Given the description of an element on the screen output the (x, y) to click on. 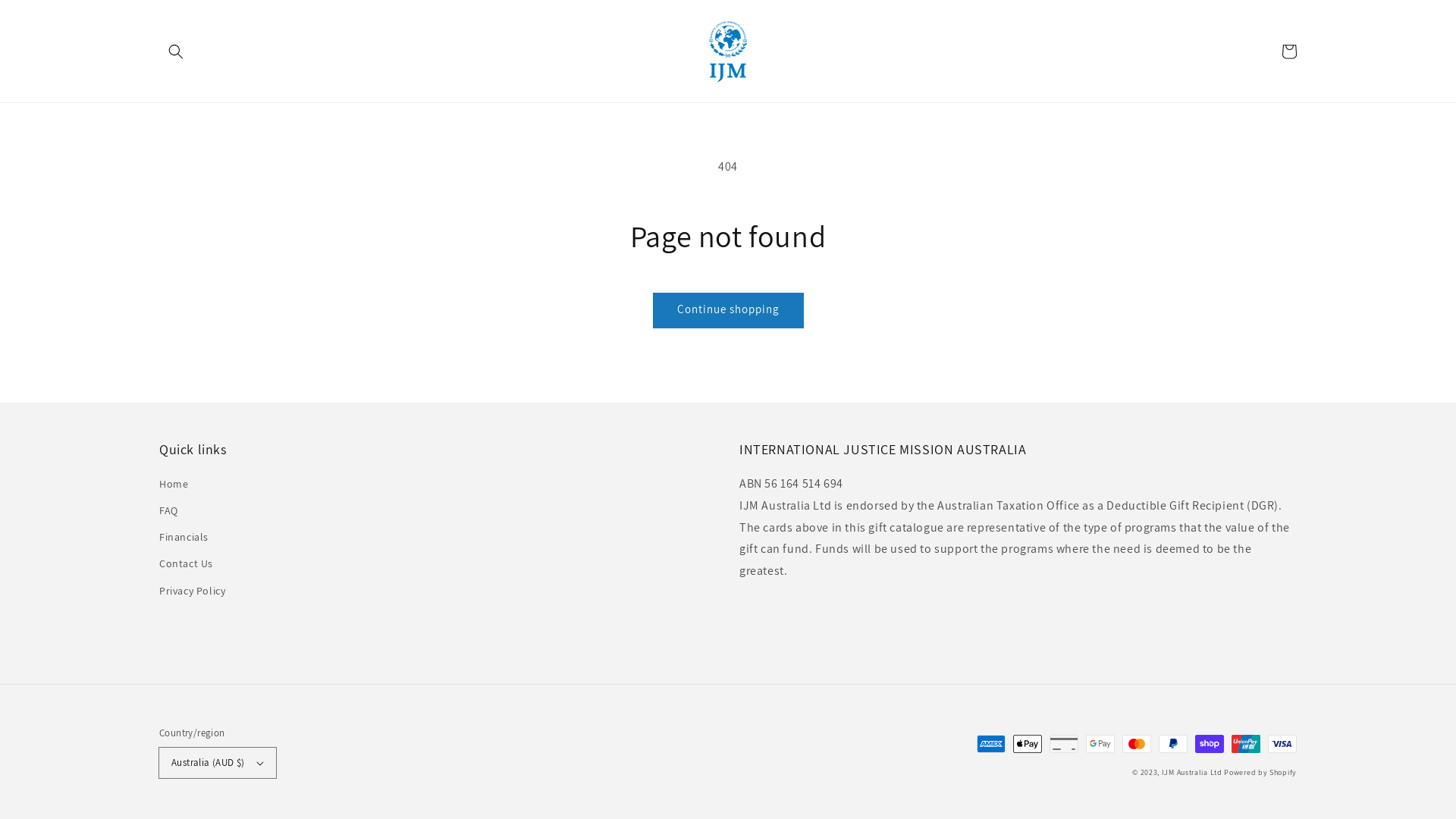
Australia (AUD $) Element type: text (217, 762)
Contact Us Element type: text (186, 563)
FAQ Element type: text (168, 510)
Powered by Shopify Element type: text (1259, 772)
Continue shopping Element type: text (728, 310)
Privacy Policy Element type: text (192, 590)
IJM Australia Ltd Element type: text (1191, 772)
Financials Element type: text (183, 537)
Cart Element type: text (1288, 51)
Home Element type: text (173, 485)
